Given the description of an element on the screen output the (x, y) to click on. 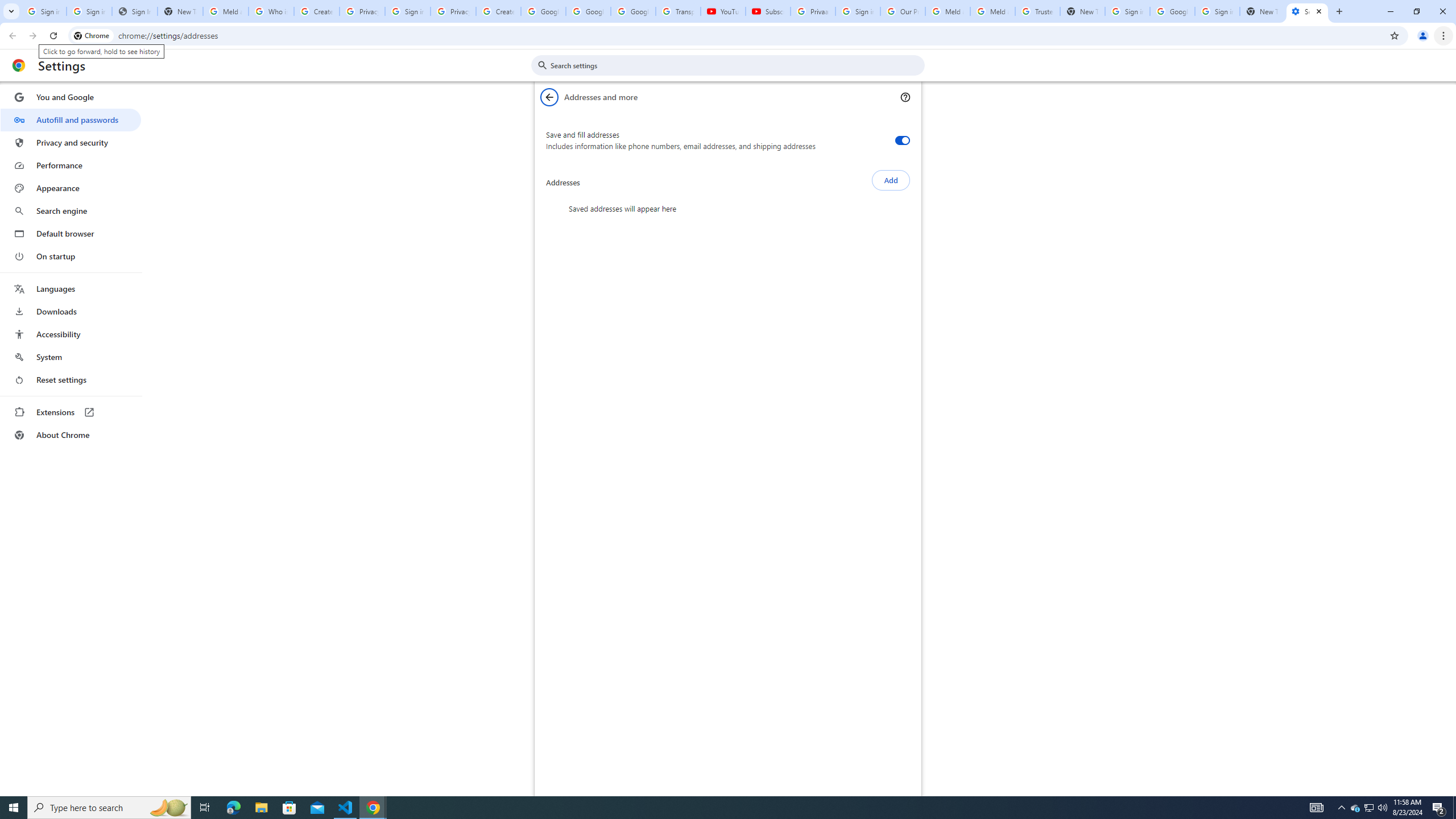
YouTube (723, 11)
Settings - Addresses and more (1307, 11)
Search settings (735, 65)
Performance (70, 164)
Create your Google Account (497, 11)
